Given the description of an element on the screen output the (x, y) to click on. 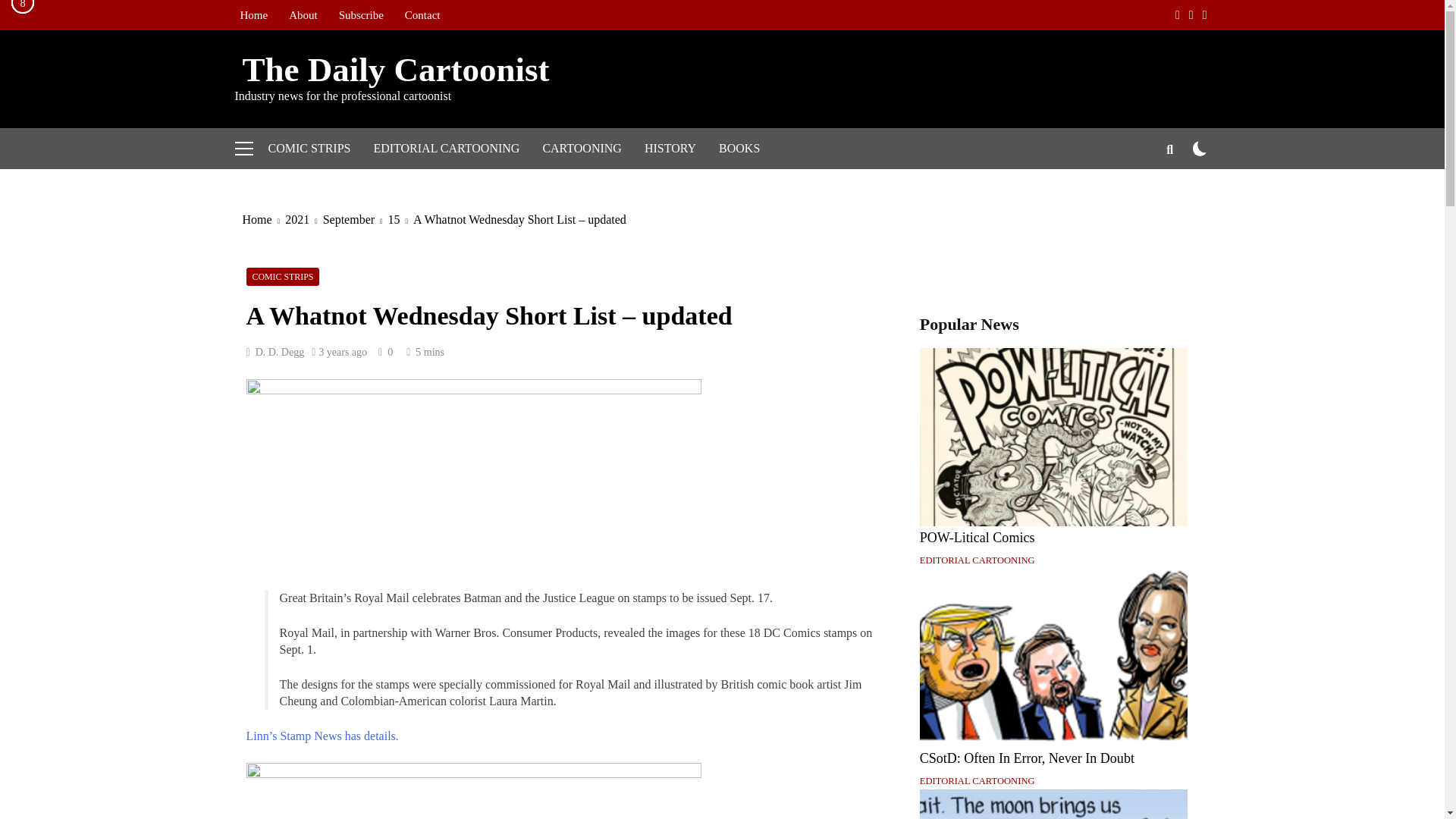
on (1199, 147)
About (302, 15)
Contact (422, 15)
The Daily Cartoonist (392, 69)
Subscribe to The Daily Cartoonist (361, 15)
Comic history (670, 147)
Home (253, 15)
Subscribe (361, 15)
